Given the description of an element on the screen output the (x, y) to click on. 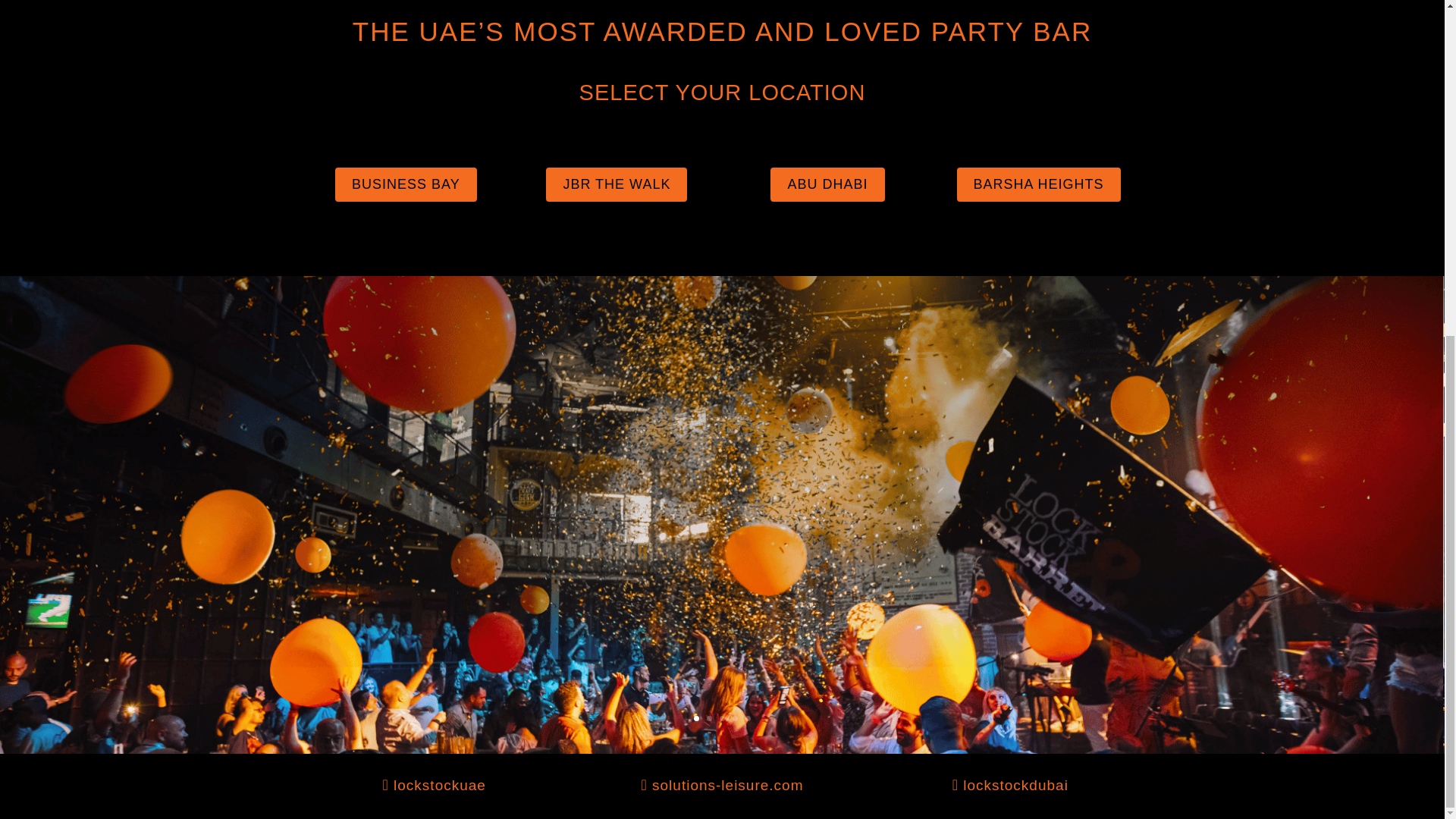
BARSHA HEIGHTS (1038, 184)
JBR THE WALK (616, 184)
3 (722, 718)
BUSINESS BAY (405, 184)
2 (708, 718)
ABU DHABI (826, 184)
4 (735, 718)
5 (748, 718)
